Given the description of an element on the screen output the (x, y) to click on. 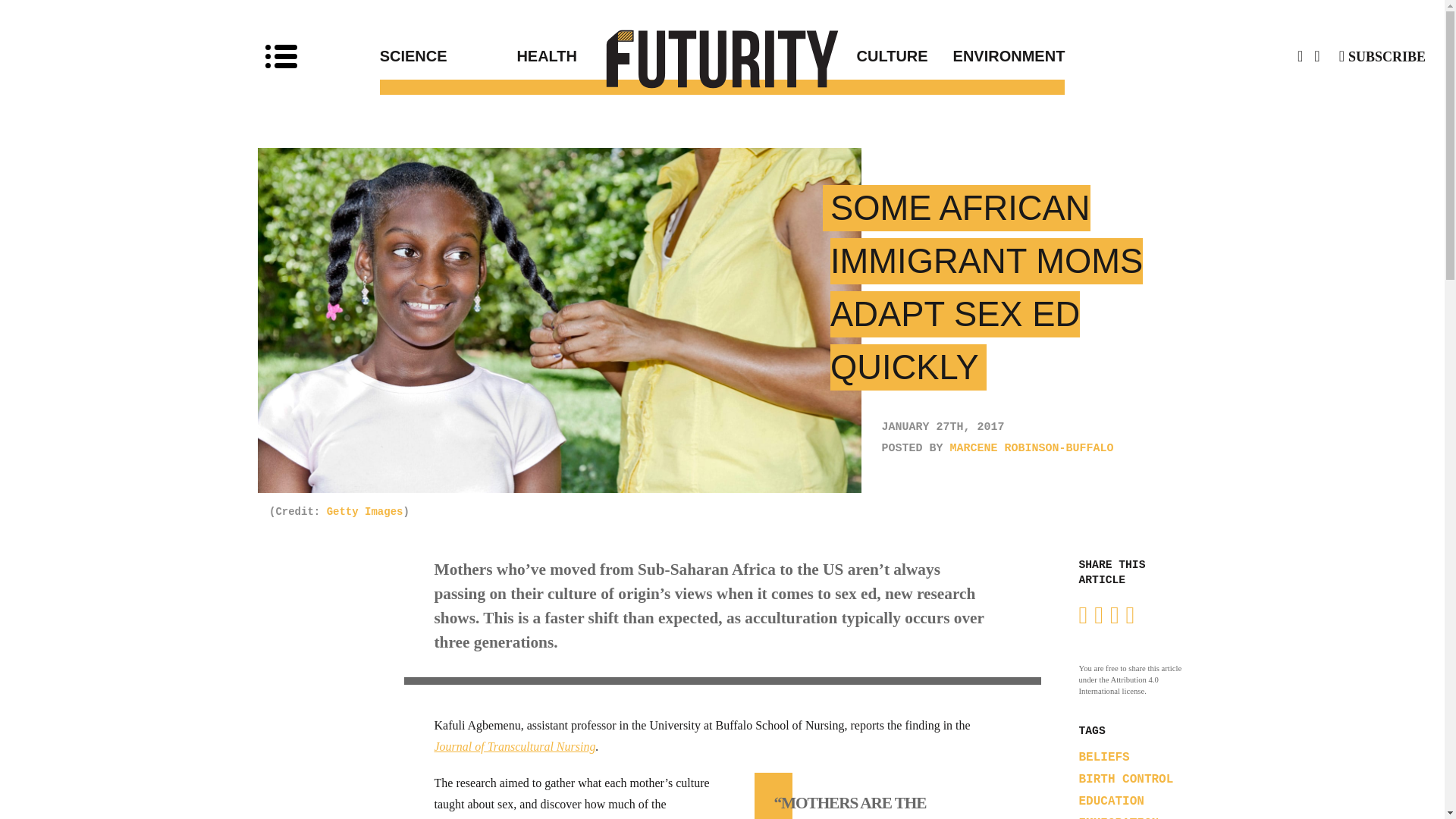
Getty Images (364, 511)
MARCENE ROBINSON-BUFFALO (1031, 448)
Environment (996, 55)
SCIENCE (448, 55)
Research news from top universities (722, 58)
BIRTH CONTROL (1125, 779)
EDUCATION (1110, 801)
BELIEFS (1103, 757)
Health (619, 55)
SUBSCRIBE (1382, 56)
